Given the description of an element on the screen output the (x, y) to click on. 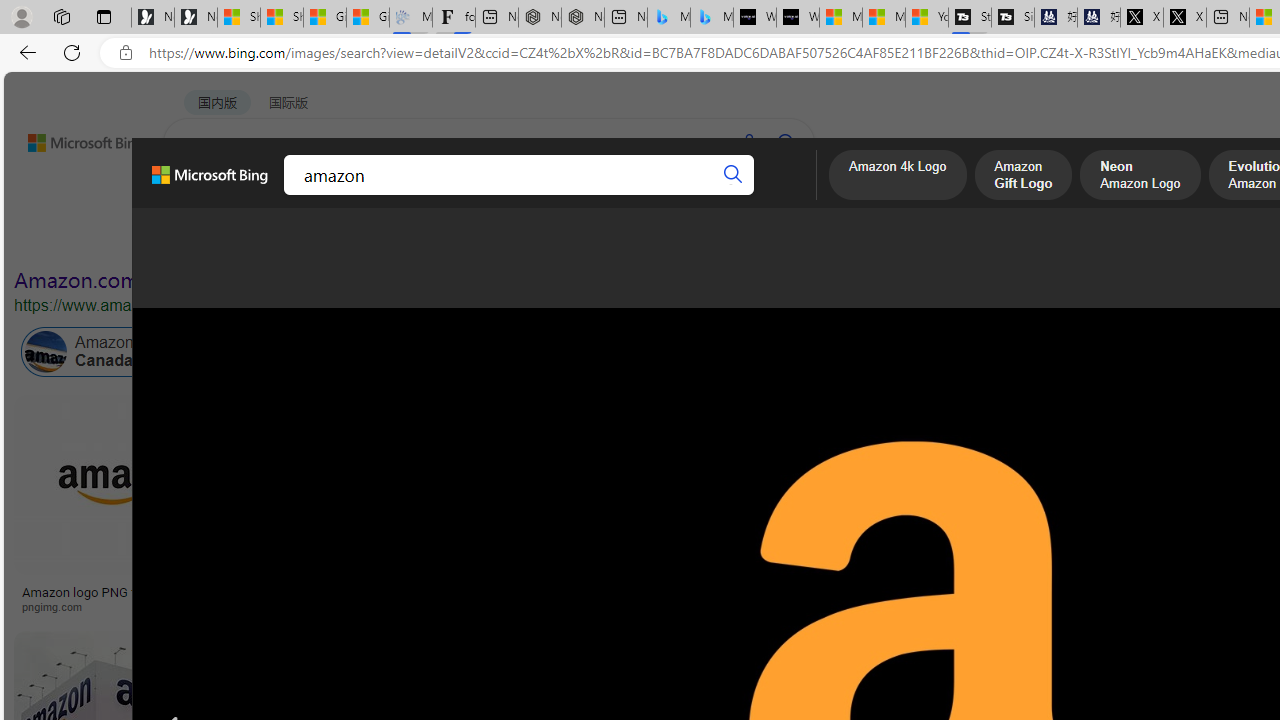
WEB (201, 195)
Image size (222, 237)
Layout (443, 237)
Image result for amazon (288, 675)
Class: b_pri_nav_svg (336, 196)
Amazon Kids (422, 351)
Search using voice (748, 142)
Amazon Canada Online (45, 351)
Kindle Paperwhite Case (1087, 524)
Amazon.com. Spend less. Smile more. (195, 280)
usatoday.com (653, 606)
